Given the description of an element on the screen output the (x, y) to click on. 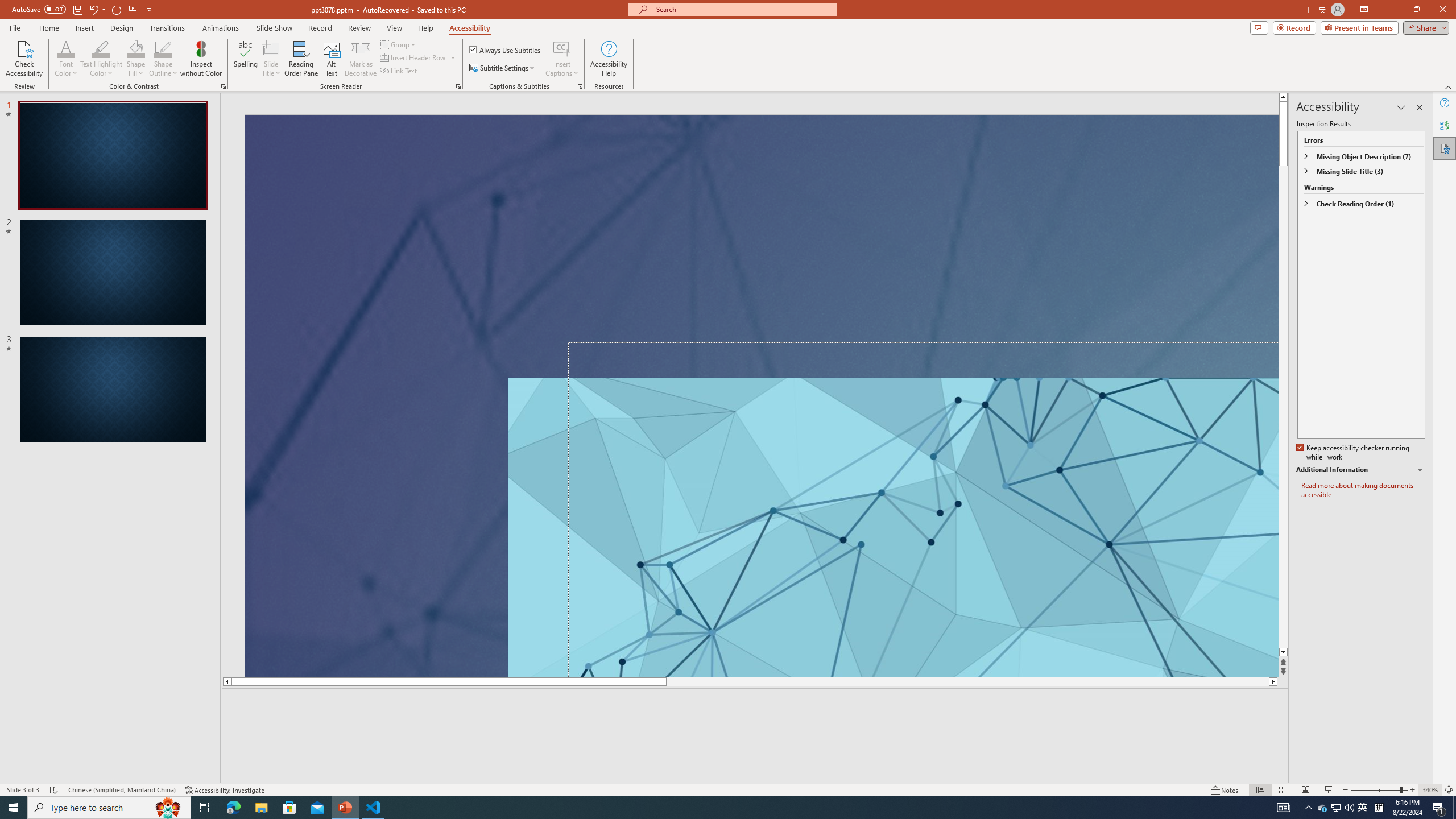
Shape Outline (163, 58)
Color & Contrast (223, 85)
